Given the description of an element on the screen output the (x, y) to click on. 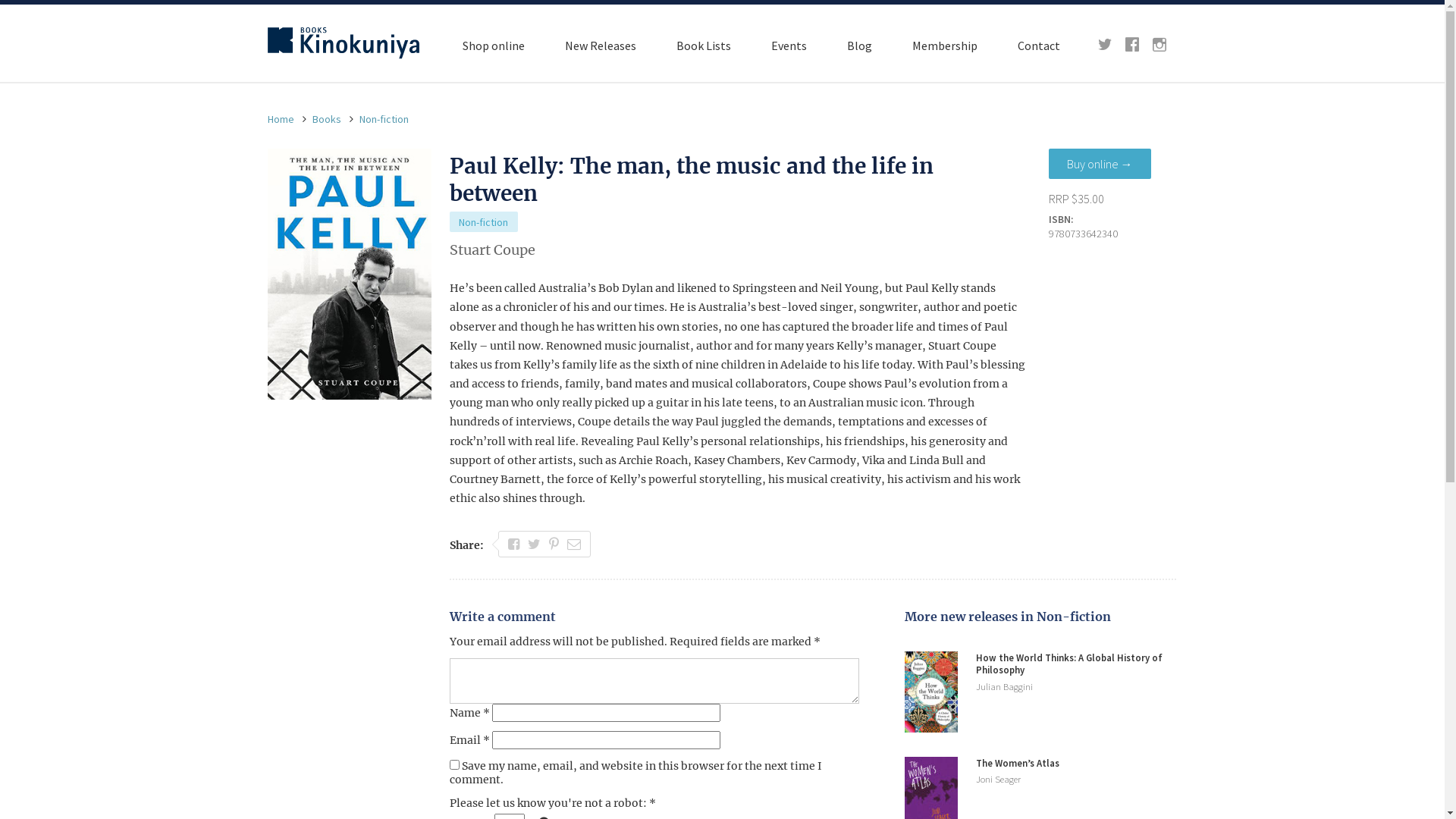
Instagram Element type: text (1159, 46)
Shop online Element type: text (493, 45)
Books Element type: text (326, 118)
New Releases Element type: text (599, 45)
Twitter Element type: text (1104, 46)
Membership Element type: text (943, 45)
Facebook Element type: text (1132, 46)
Events Element type: text (788, 45)
Home Element type: text (279, 118)
Book Lists Element type: text (703, 45)
Non-fiction Element type: text (383, 118)
Blog Element type: text (858, 45)
Kinokuniya Element type: text (342, 43)
How the World Thinks: A Global History of Philosophy Element type: text (1068, 663)
Contact Element type: text (1038, 45)
Non-fiction Element type: text (482, 221)
